Given the description of an element on the screen output the (x, y) to click on. 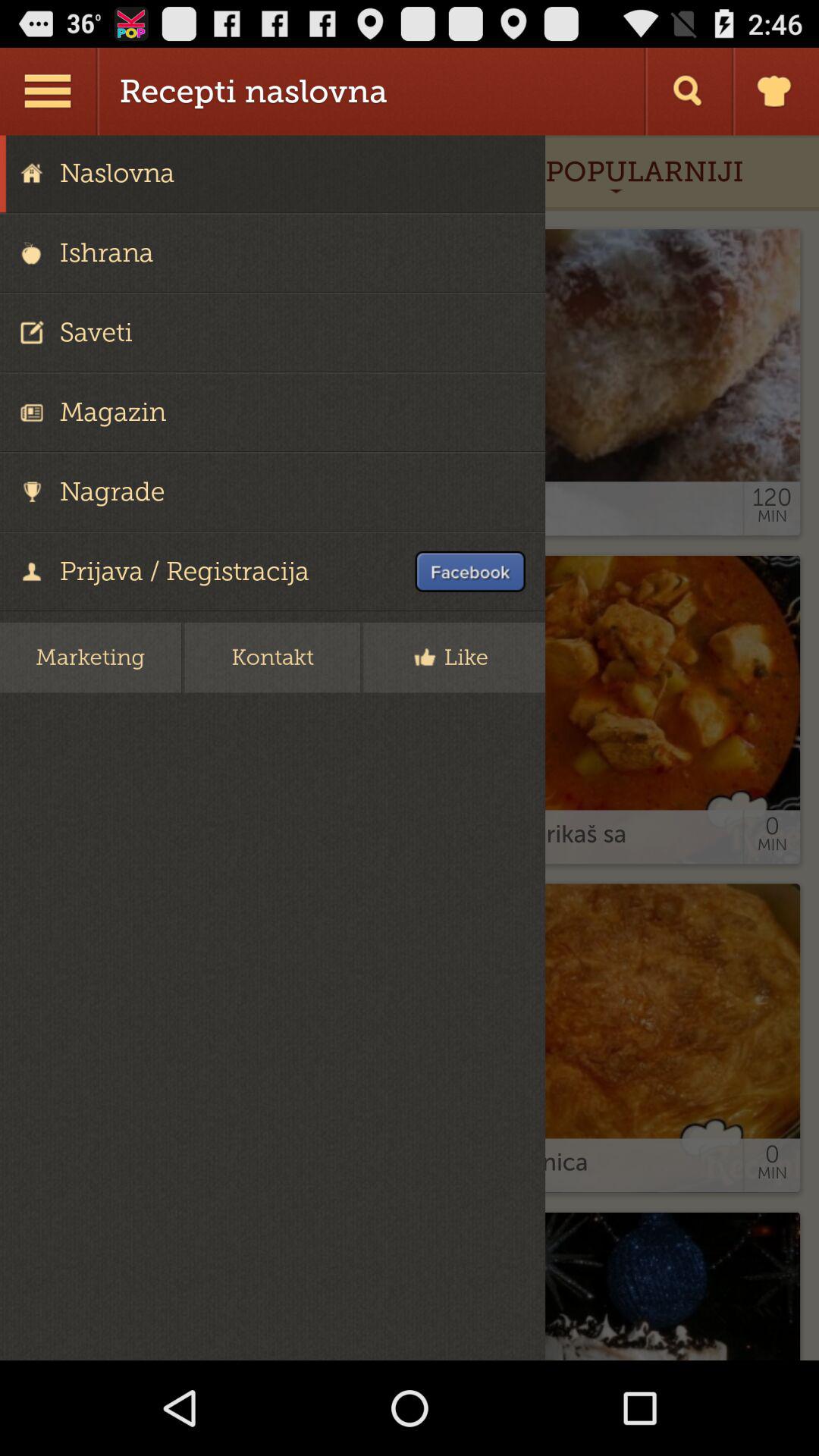
display options (49, 91)
